Given the description of an element on the screen output the (x, y) to click on. 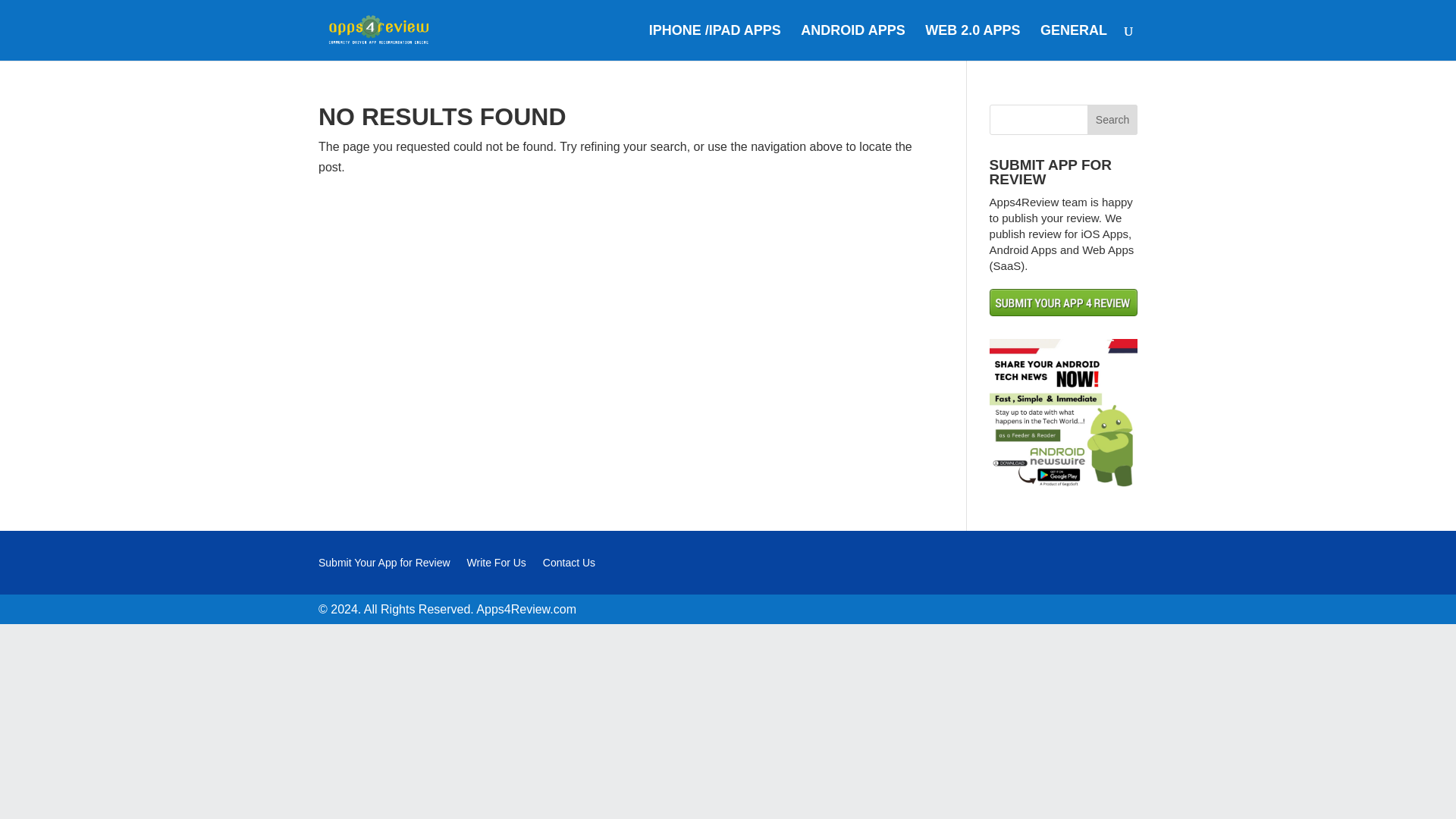
WEB 2.0 APPS (972, 42)
Search (1112, 119)
Submit Your App for Review (383, 565)
Write For Us (496, 565)
Contact Us (569, 565)
ANDROID APPS (852, 42)
GENERAL (1073, 42)
Search (1112, 119)
